Given the description of an element on the screen output the (x, y) to click on. 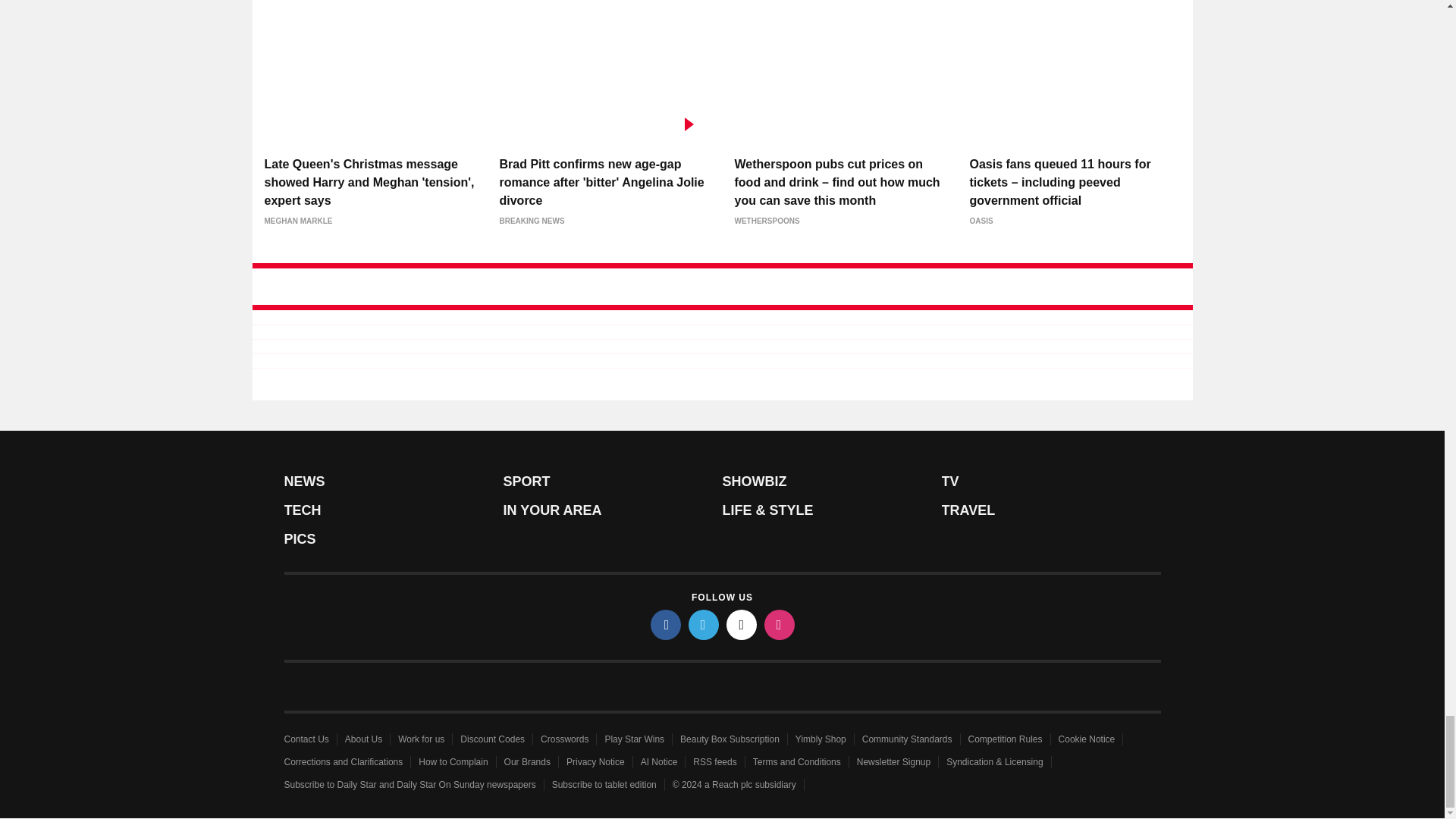
tiktok (741, 624)
instagram (779, 624)
twitter (703, 624)
facebook (665, 624)
